Given the description of an element on the screen output the (x, y) to click on. 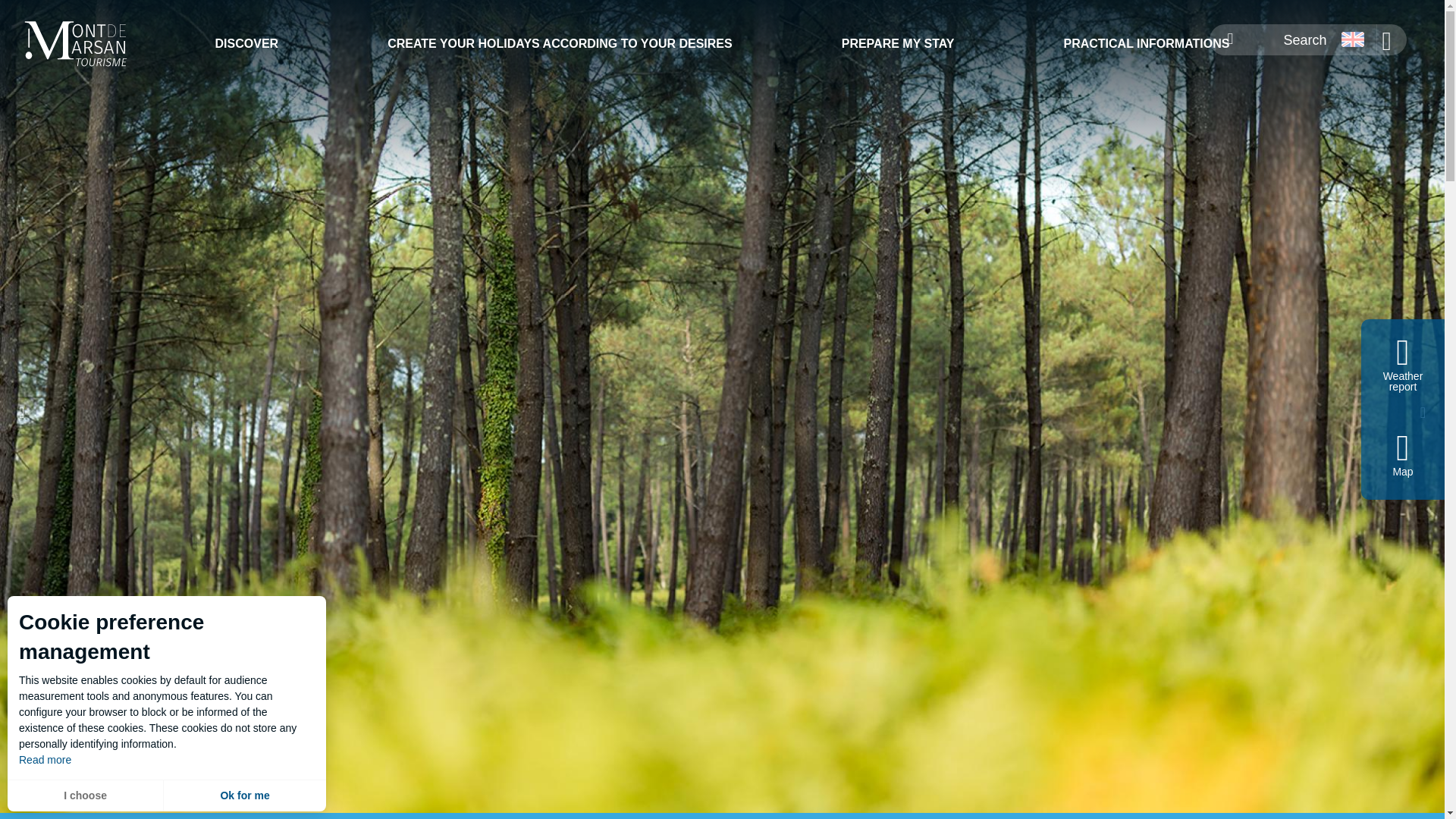
CREATE YOUR HOLIDAYS ACCORDING TO YOUR DESIRES (560, 43)
DISCOVER (246, 43)
